Given the description of an element on the screen output the (x, y) to click on. 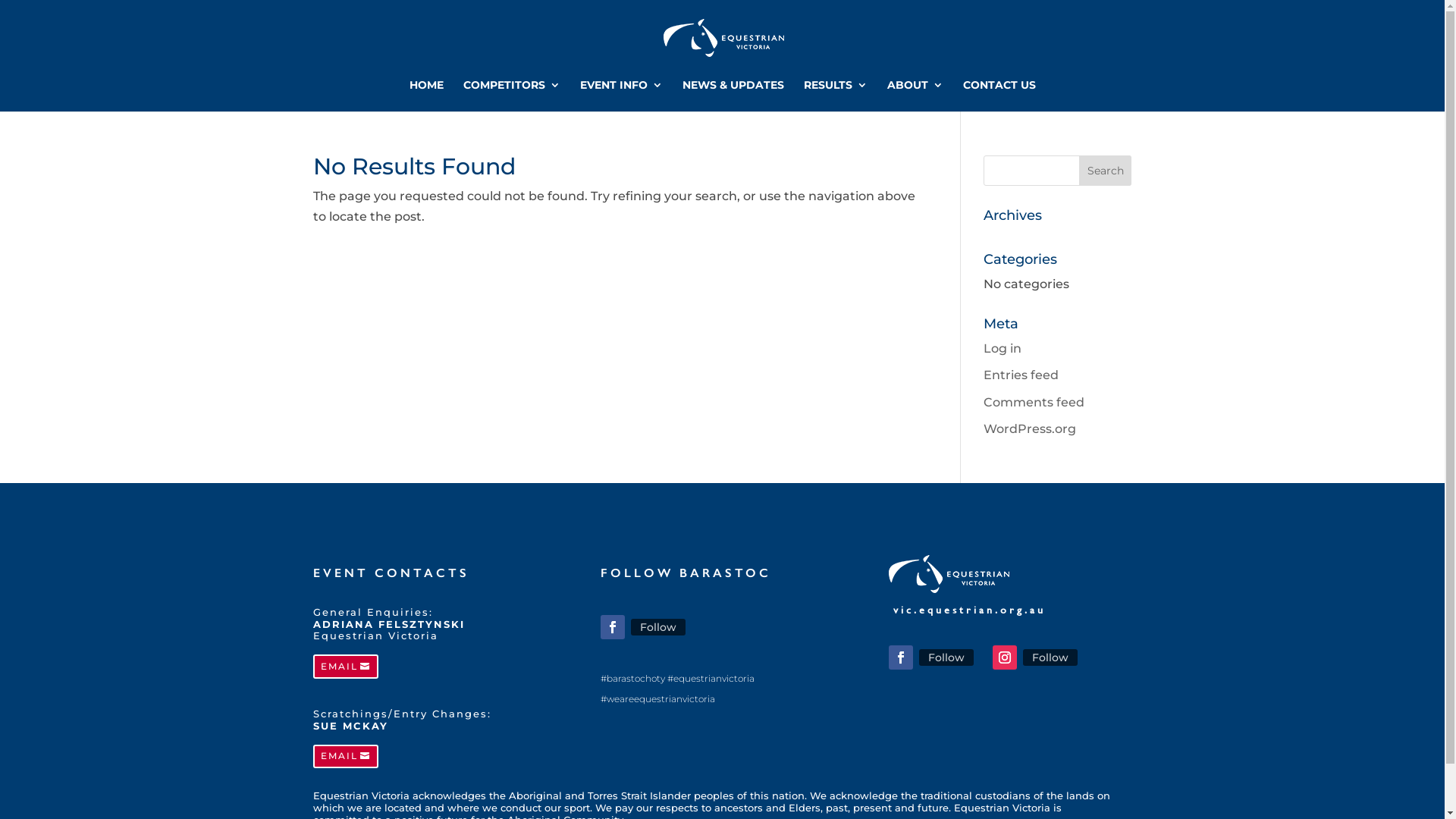
Log in Element type: text (1002, 348)
CONTACT US Element type: text (999, 95)
Search Element type: text (1105, 170)
Follow on Facebook Element type: hover (900, 657)
EMAIL Element type: text (344, 666)
Follow Element type: text (946, 657)
Comments feed Element type: text (1033, 402)
HOME Element type: text (426, 95)
RESULTS Element type: text (835, 95)
Follow on Instagram Element type: hover (1004, 657)
vic.equestrian.org.au Element type: text (969, 609)
ABOUT Element type: text (915, 95)
Follow Element type: text (1049, 657)
NEWS & UPDATES Element type: text (733, 95)
WordPress.org Element type: text (1029, 428)
EVENT INFO Element type: text (620, 95)
Follow Element type: text (657, 626)
Entries feed Element type: text (1020, 374)
Follow on Facebook Element type: hover (612, 627)
COMPETITORS Element type: text (510, 95)
EMAIL Element type: text (344, 756)
